Given the description of an element on the screen output the (x, y) to click on. 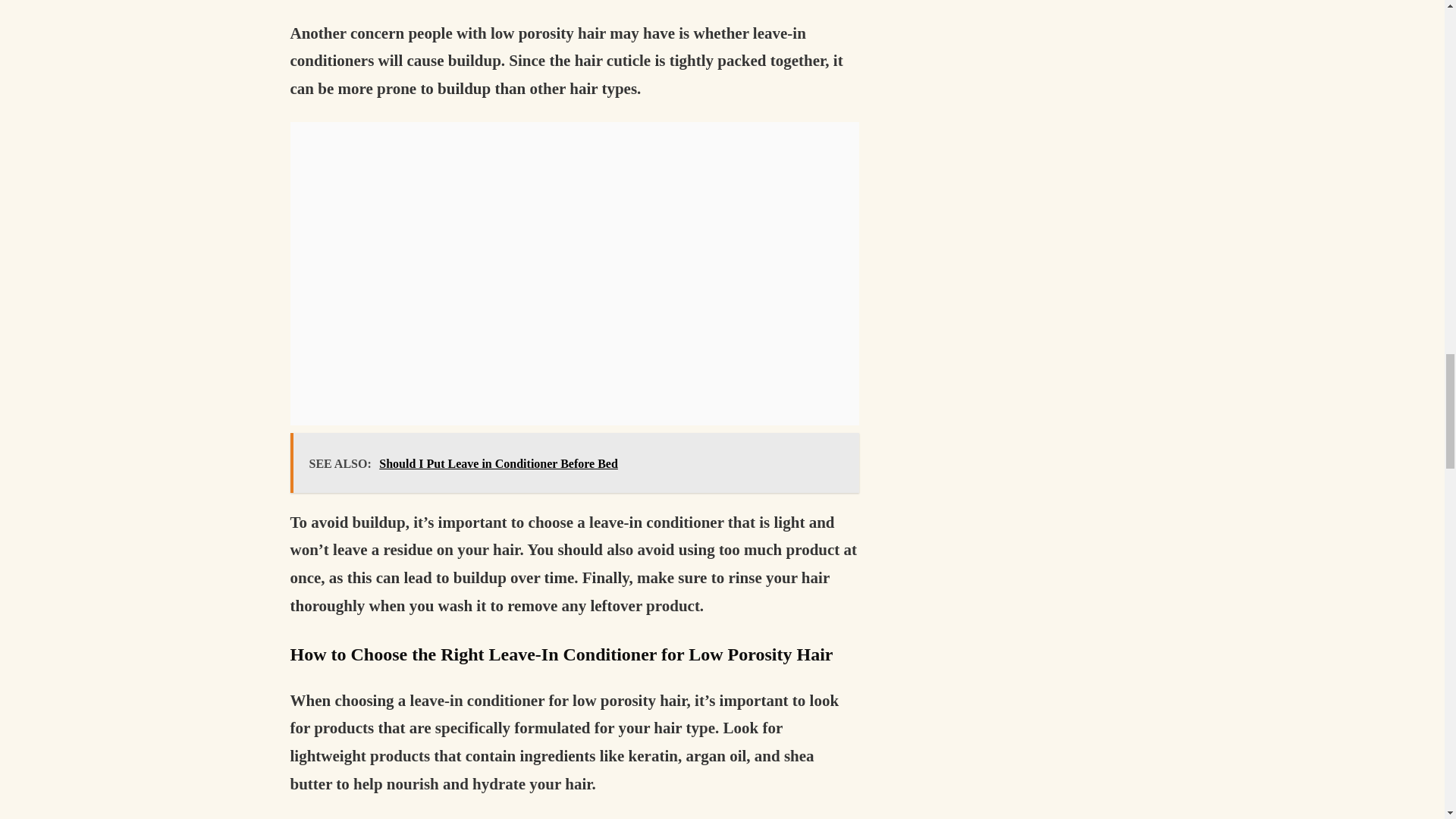
SEE ALSO:  Should I Put Leave in Conditioner Before Bed (574, 463)
